Given the description of an element on the screen output the (x, y) to click on. 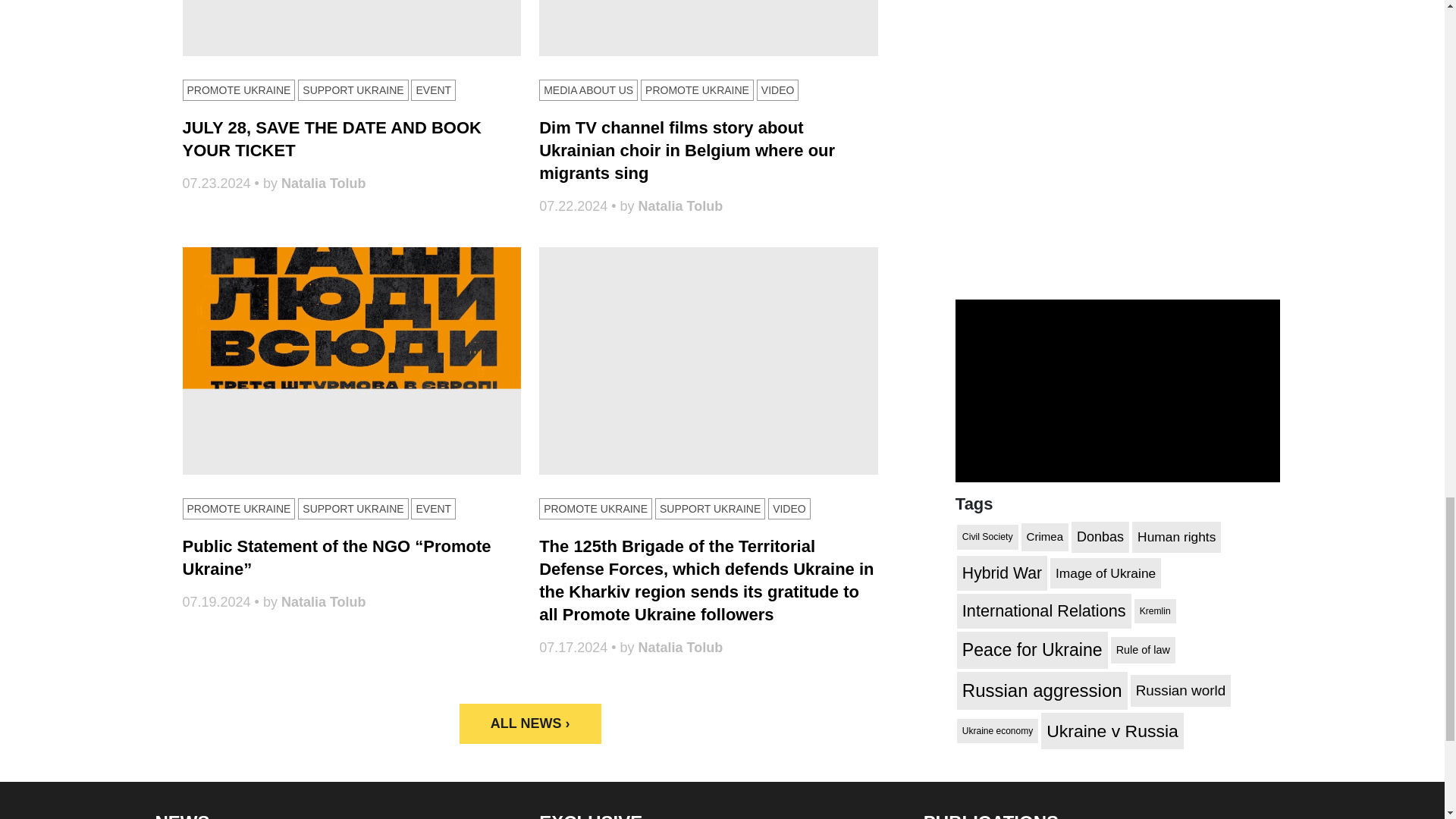
JULY 28, SAVE THE DATE AND BOOK YOUR TICKET (331, 138)
JULY 28, SAVE THE DATE AND BOOK YOUR TICKET (351, 28)
